Given the description of an element on the screen output the (x, y) to click on. 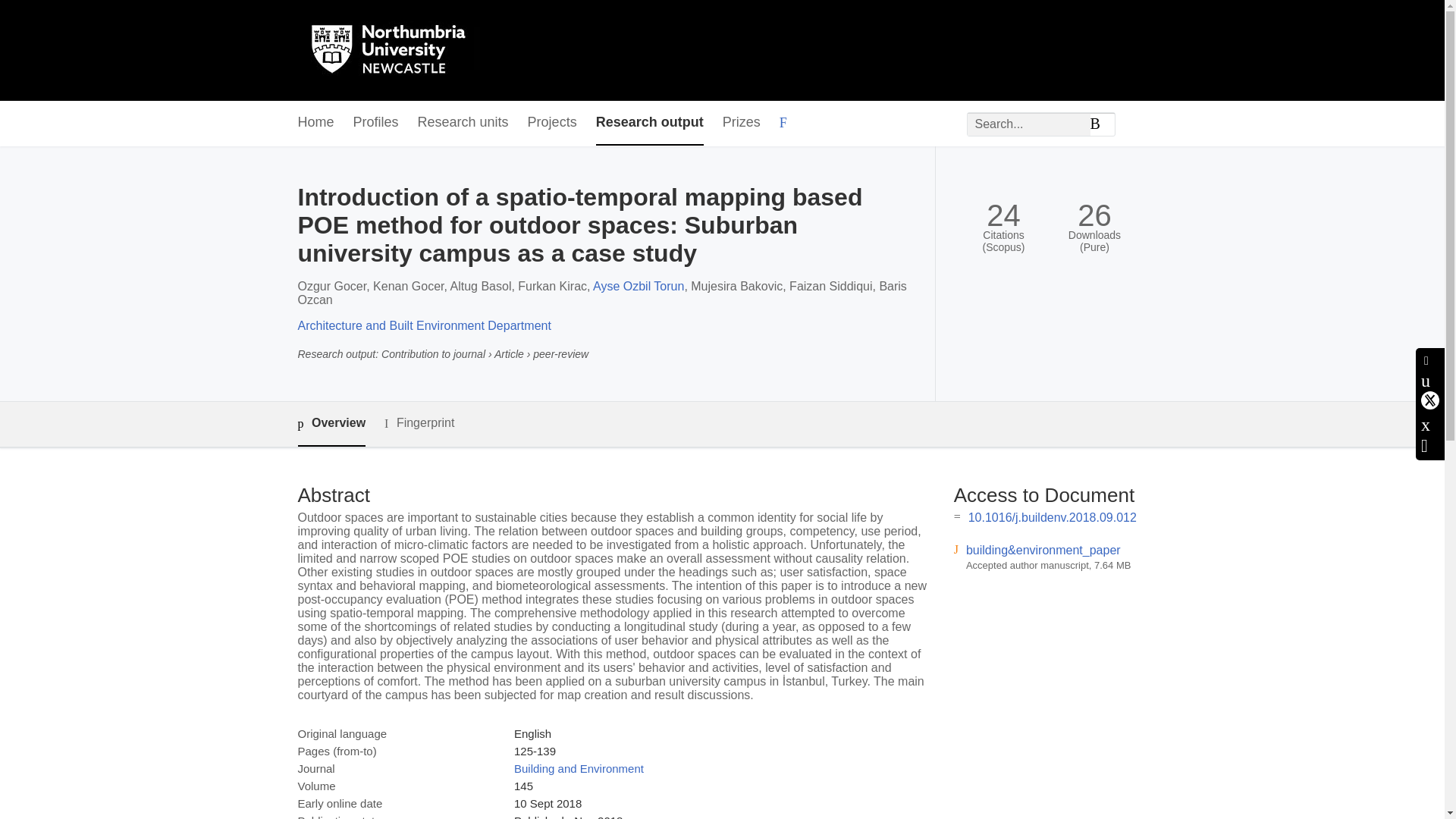
Architecture and Built Environment Department (423, 325)
Northumbria University Research Portal Home (398, 50)
Research units (462, 122)
Profiles (375, 122)
Building and Environment (578, 768)
Research output (649, 122)
Overview (331, 424)
Ayse Ozbil Torun (638, 286)
Fingerprint (419, 423)
Projects (551, 122)
